Given the description of an element on the screen output the (x, y) to click on. 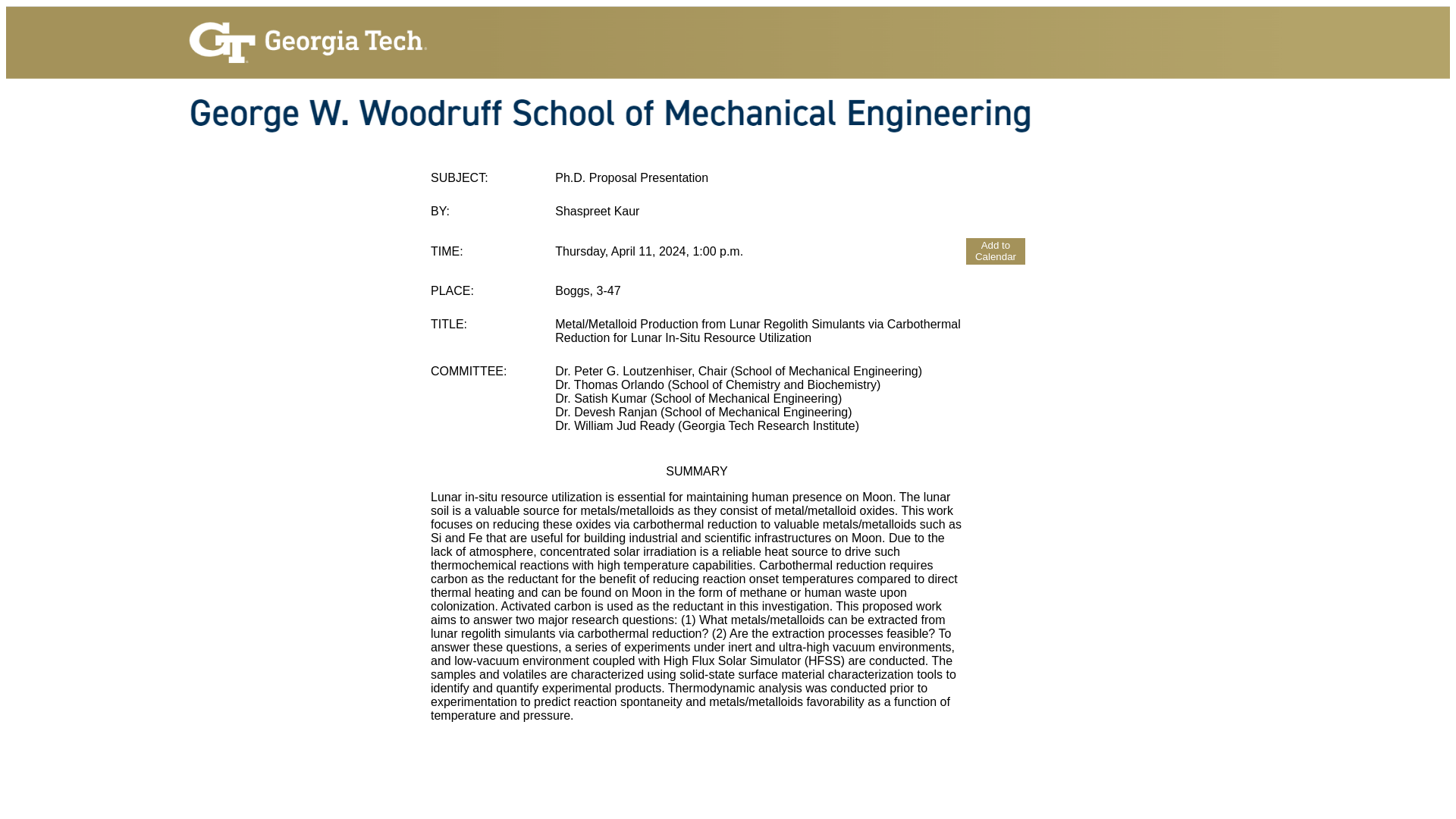
Add to Calendar (995, 251)
